Given the description of an element on the screen output the (x, y) to click on. 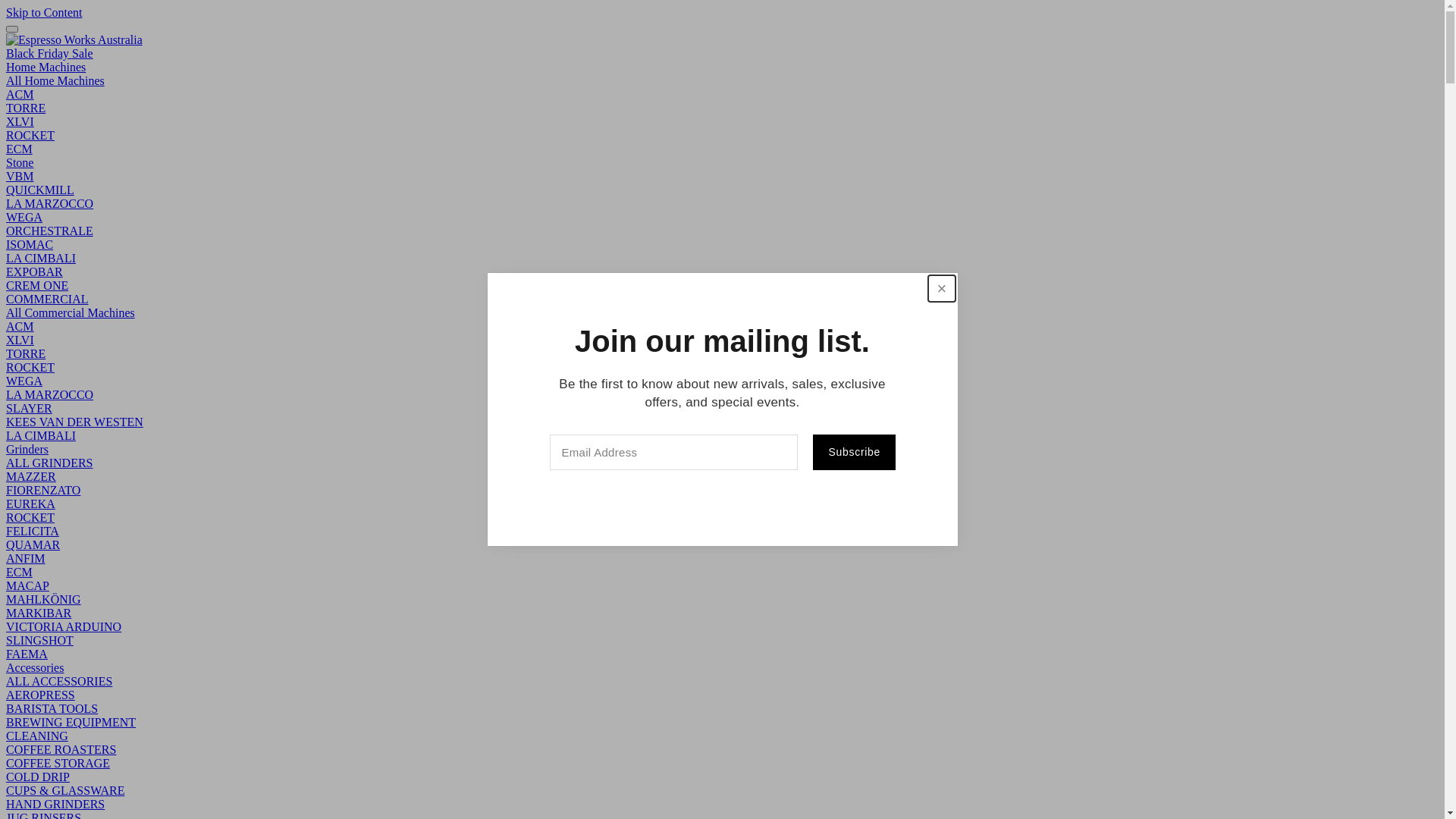
VBM Element type: text (19, 175)
QUAMAR Element type: text (32, 544)
FIORENZATO Element type: text (43, 489)
EXPOBAR Element type: text (34, 271)
MAZZER Element type: text (31, 476)
VICTORIA ARDUINO Element type: text (63, 626)
TORRE Element type: text (25, 107)
FELICITA Element type: text (32, 530)
LA MARZOCCO Element type: text (49, 203)
XLVI Element type: text (20, 121)
HAND GRINDERS Element type: text (55, 803)
MARKIBAR Element type: text (38, 612)
CREM ONE Element type: text (37, 285)
ORCHESTRALE Element type: text (49, 230)
ALL GRINDERS Element type: text (49, 462)
ISOMAC Element type: text (29, 244)
Skip to Content Element type: text (43, 12)
COFFEE STORAGE Element type: text (57, 762)
Accessories Element type: text (34, 667)
CUPS & GLASSWARE Element type: text (65, 790)
MACAP Element type: text (27, 585)
ECM Element type: text (19, 148)
CLEANING Element type: text (37, 735)
ECM Element type: text (19, 571)
All Home Machines Element type: text (55, 80)
SLAYER Element type: text (29, 407)
AEROPRESS Element type: text (40, 694)
BREWING EQUIPMENT Element type: text (70, 721)
SLINGSHOT Element type: text (39, 639)
ACM Element type: text (19, 93)
FAEMA Element type: text (26, 653)
LA CIMBALI Element type: text (40, 435)
TORRE Element type: text (25, 353)
WEGA Element type: text (24, 216)
ROCKET Element type: text (30, 517)
XLVI Element type: text (20, 339)
QUICKMILL Element type: text (40, 189)
Grinders Element type: text (27, 448)
COFFEE ROASTERS Element type: text (61, 749)
ANFIM Element type: text (25, 558)
Home Machines Element type: text (45, 66)
LA CIMBALI Element type: text (40, 257)
EUREKA Element type: text (30, 503)
All Commercial Machines Element type: text (70, 312)
KEES VAN DER WESTEN Element type: text (74, 421)
ROCKET Element type: text (30, 134)
WEGA Element type: text (24, 380)
Black Friday Sale Element type: text (49, 53)
COLD DRIP Element type: text (37, 776)
Stone Element type: text (19, 162)
ROCKET Element type: text (30, 366)
LA MARZOCCO Element type: text (49, 394)
BARISTA TOOLS Element type: text (51, 708)
ACM Element type: text (19, 326)
COMMERCIAL Element type: text (46, 298)
ALL ACCESSORIES Element type: text (59, 680)
